Given the description of an element on the screen output the (x, y) to click on. 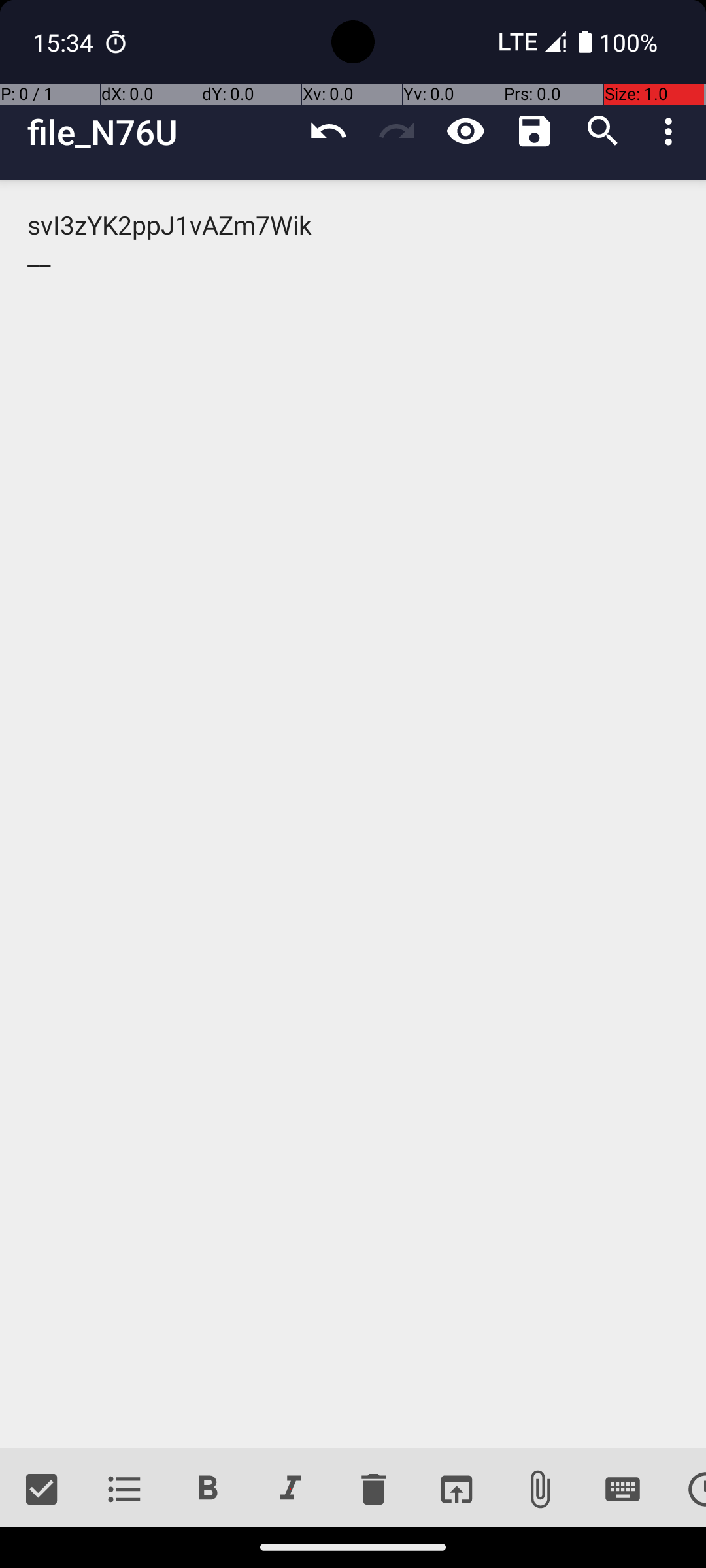
file_N76U Element type: android.widget.TextView (160, 131)
svI3zYK2ppJ1vAZm7Wik
__ Element type: android.widget.EditText (353, 813)
